Given the description of an element on the screen output the (x, y) to click on. 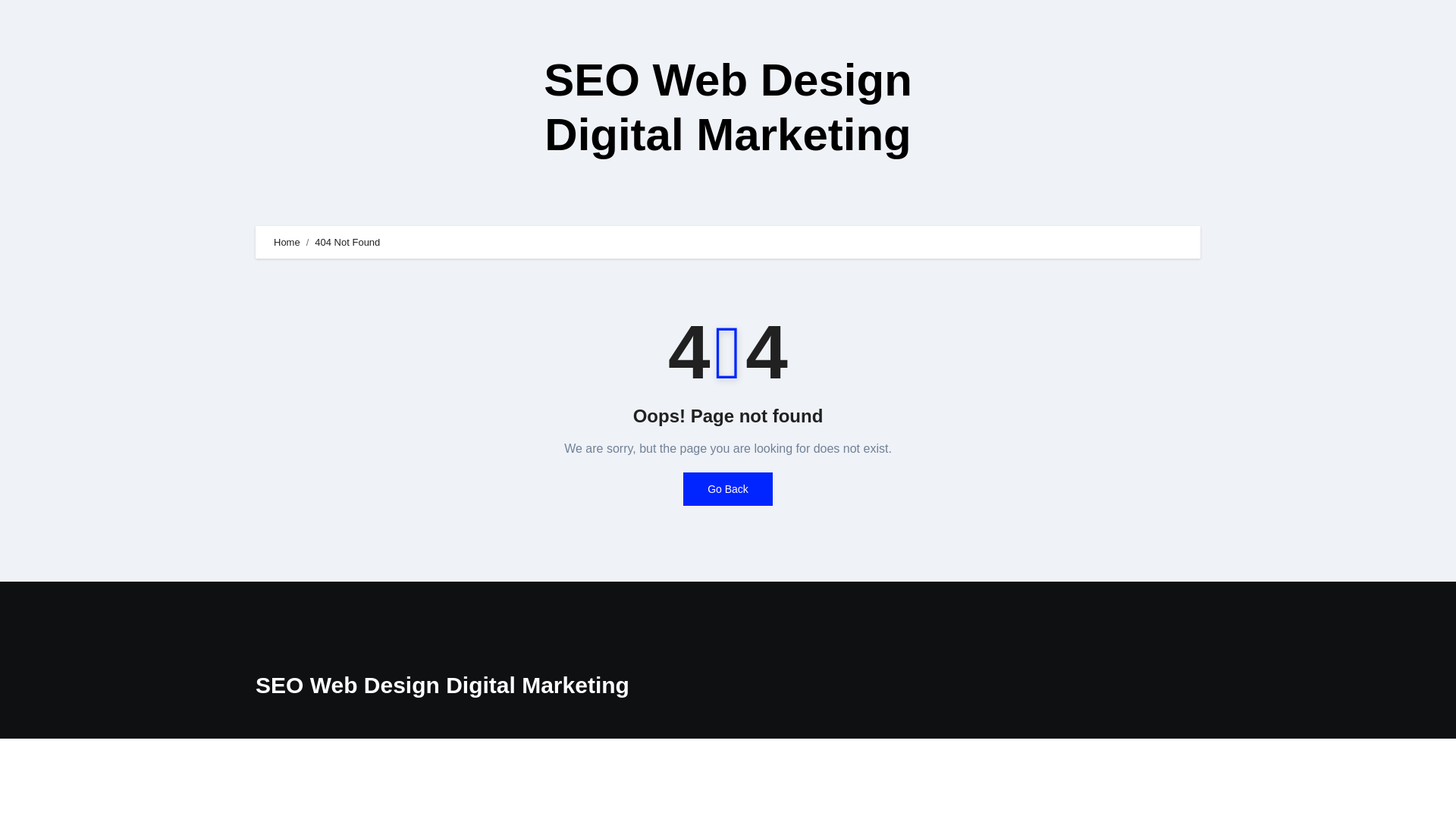
SEO Web Design Digital Marketing (727, 106)
Go Back (727, 489)
Home (286, 242)
SEO Web Design Digital Marketing (442, 684)
